Given the description of an element on the screen output the (x, y) to click on. 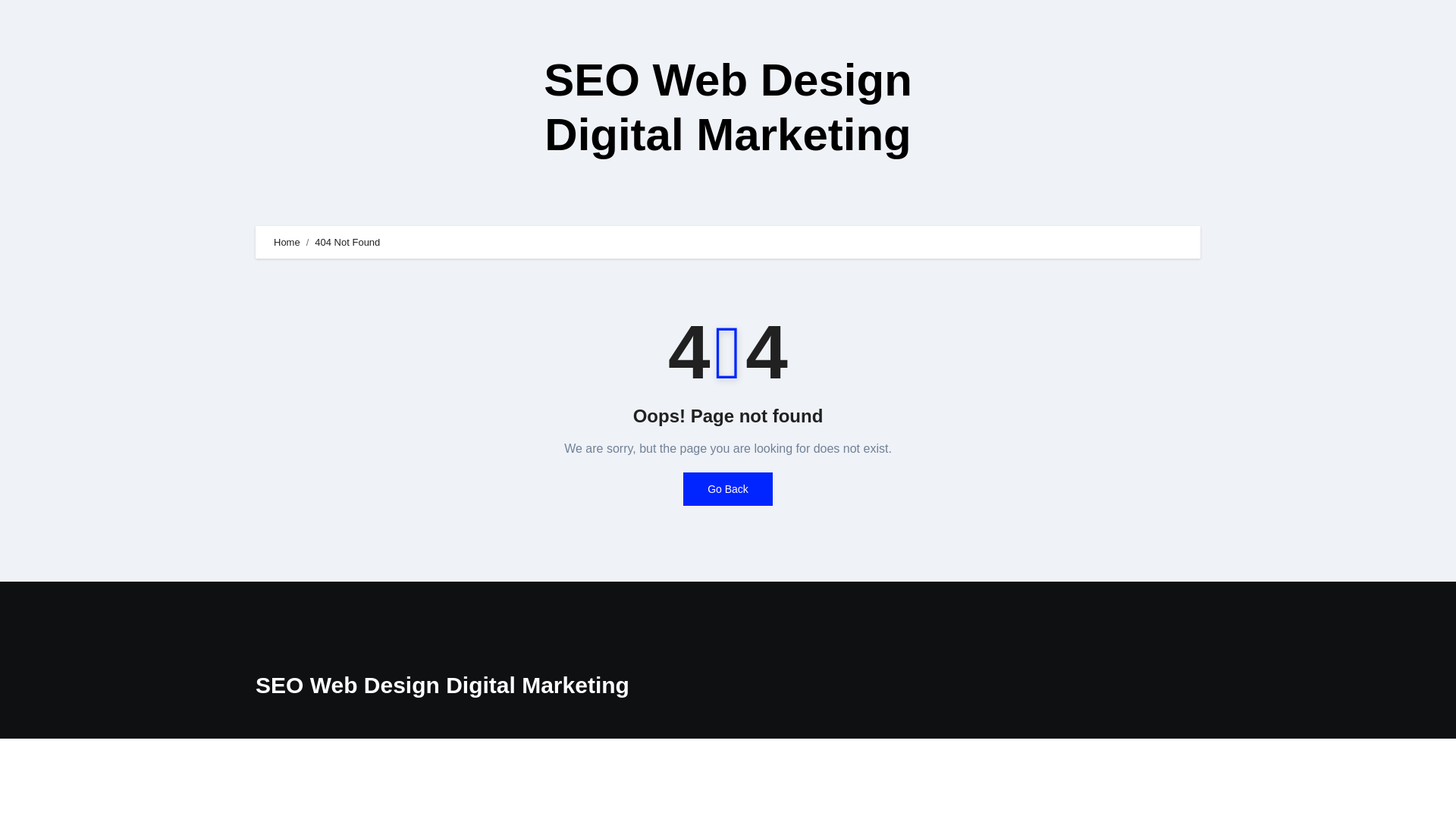
SEO Web Design Digital Marketing (727, 106)
Go Back (727, 489)
Home (286, 242)
SEO Web Design Digital Marketing (442, 684)
